Given the description of an element on the screen output the (x, y) to click on. 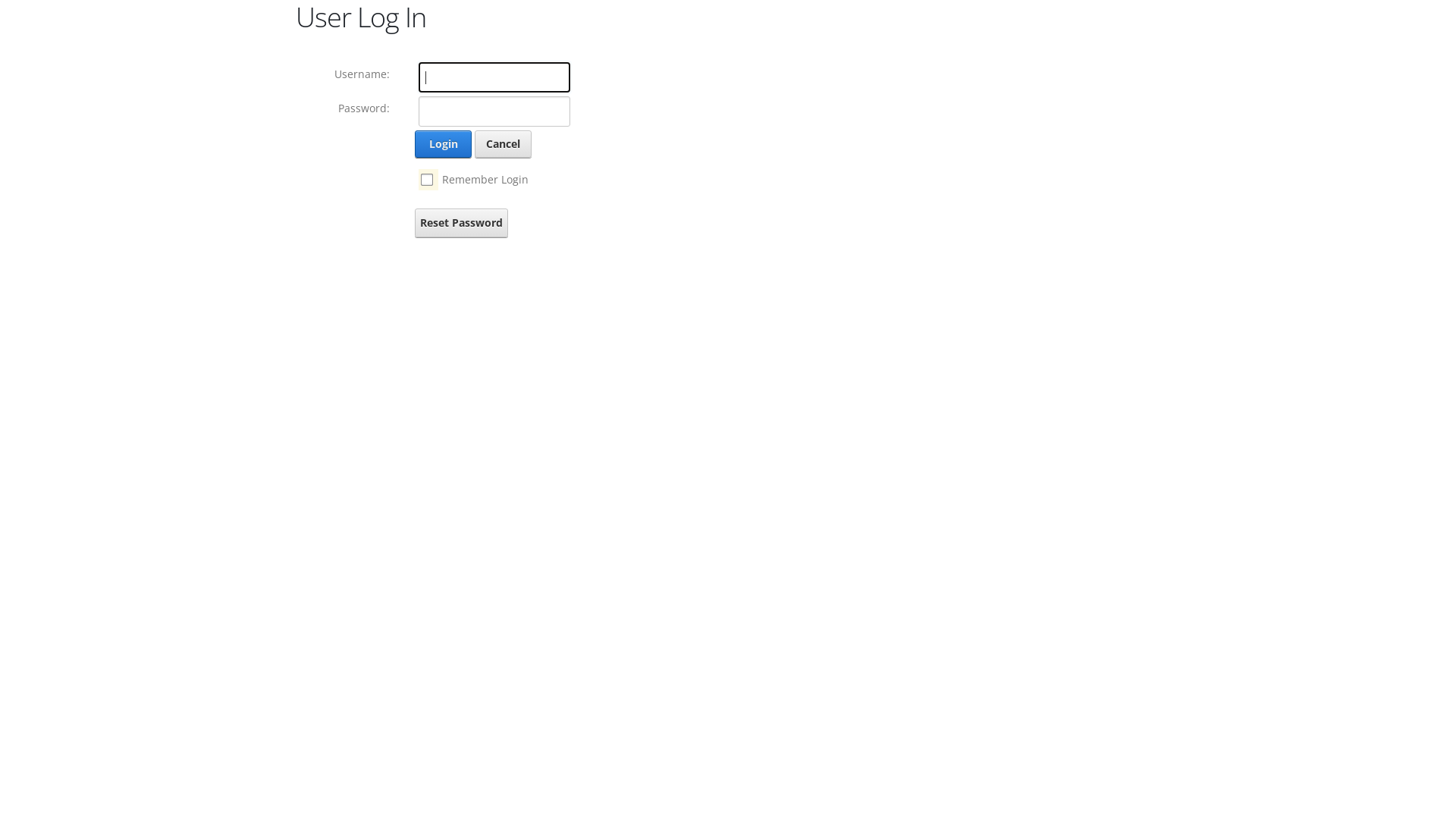
Reset Password Element type: text (461, 222)
Cancel Element type: text (502, 143)
Login Element type: text (442, 143)
